Given the description of an element on the screen output the (x, y) to click on. 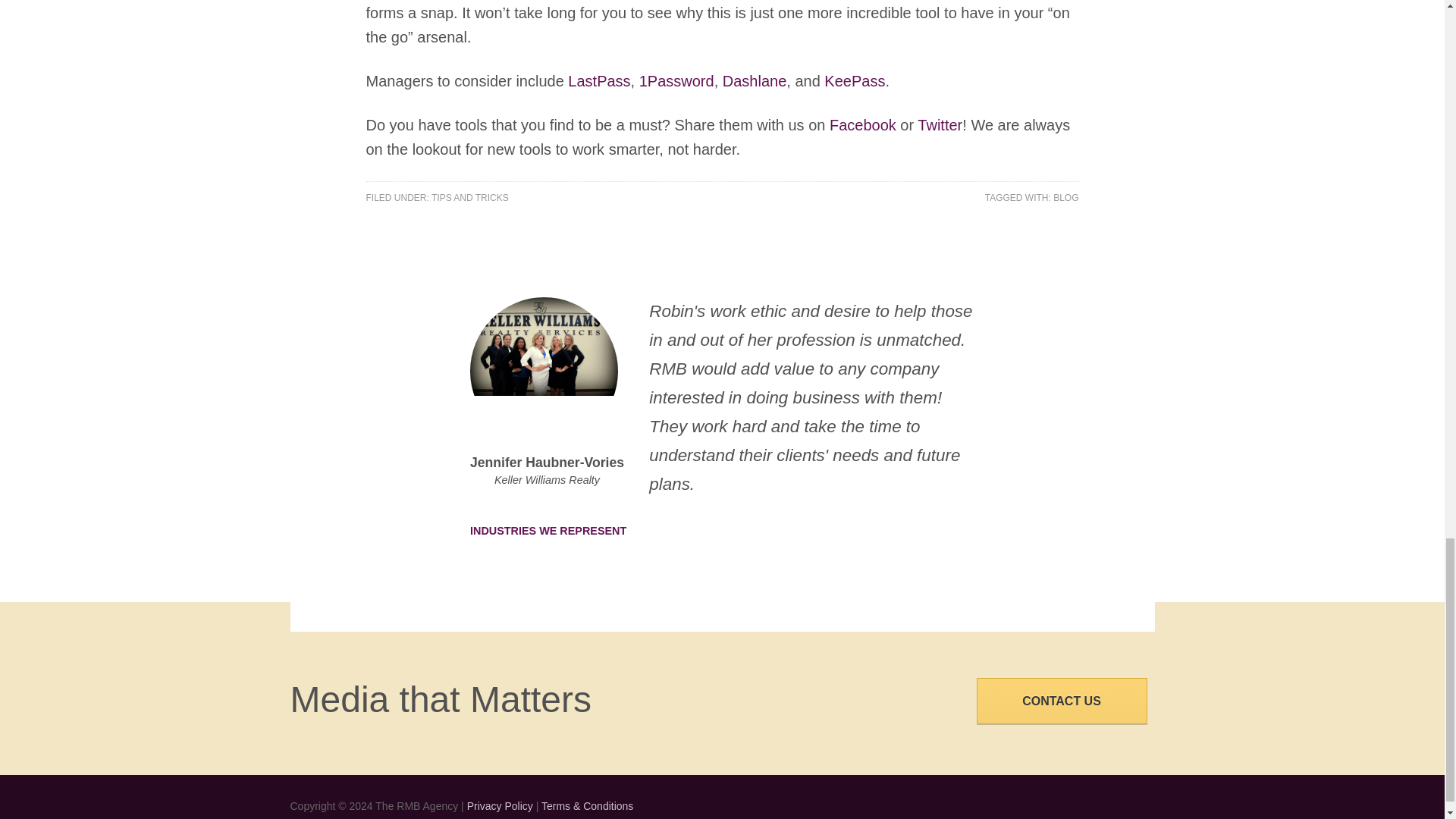
KeePass (854, 80)
LastPass (598, 80)
BLOG (1065, 197)
INDUSTRIES WE REPRESENT (559, 529)
Facebook (862, 125)
Twitter (939, 125)
CONTACT US (1061, 700)
Privacy Policy (499, 806)
1Password (676, 80)
Dashlane (754, 80)
